Given the description of an element on the screen output the (x, y) to click on. 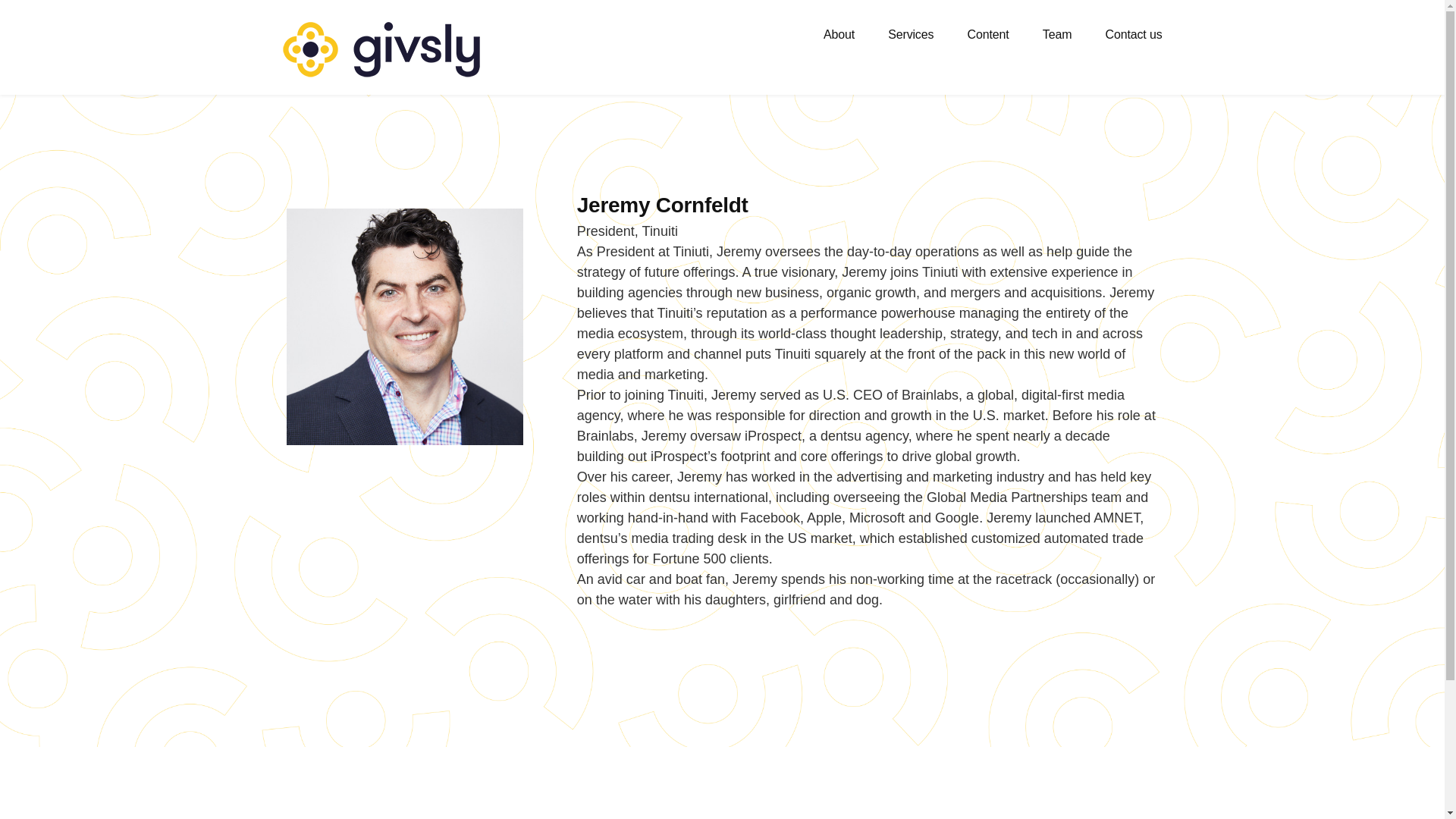
Team (1057, 34)
Contact us (1133, 34)
Content (988, 34)
Services (910, 34)
About (838, 34)
